Given the description of an element on the screen output the (x, y) to click on. 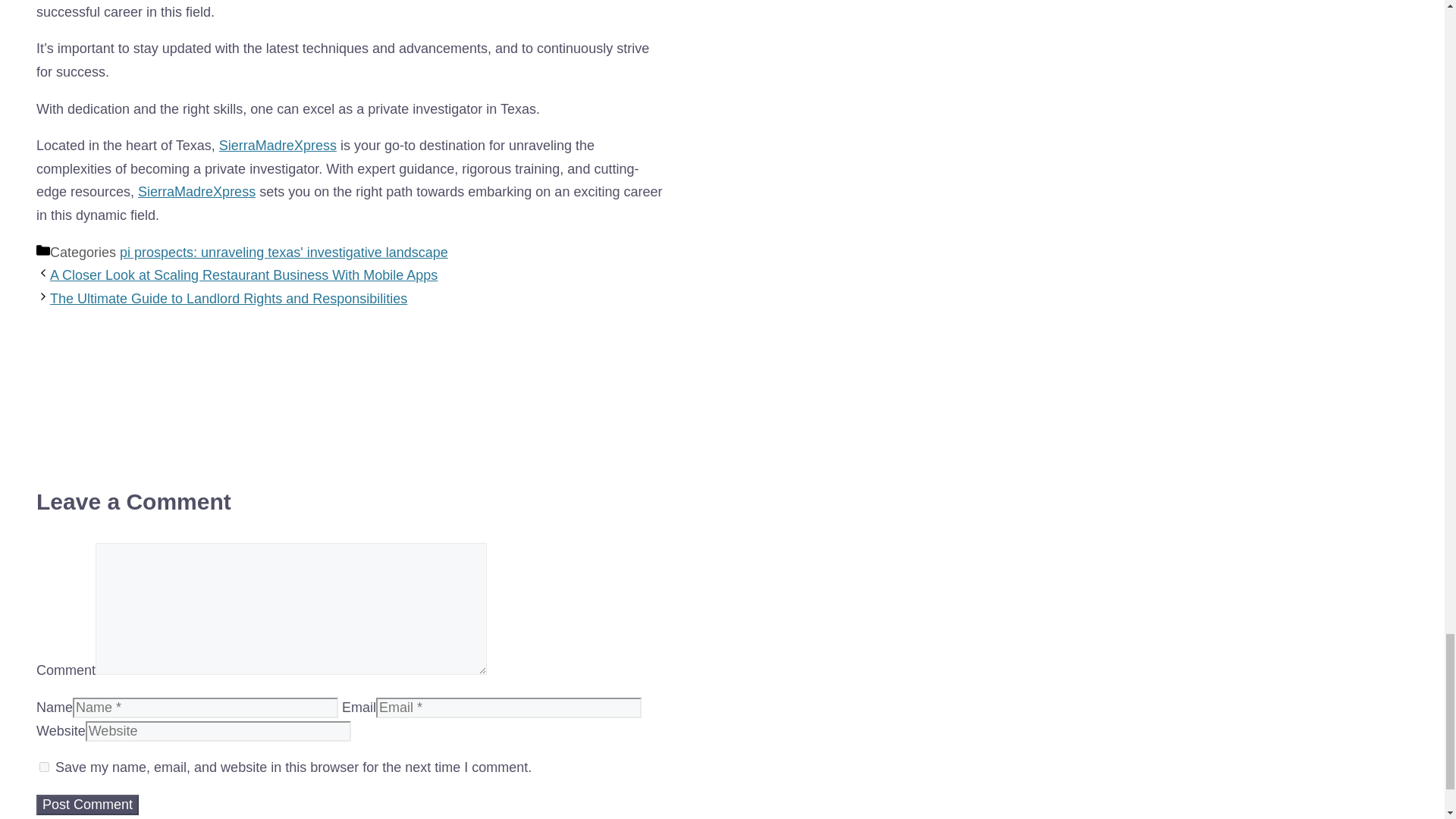
Post Comment (87, 804)
The Ultimate Guide to Landlord Rights and Responsibilities (228, 298)
SierraMadreXpress (277, 145)
Post Comment (87, 804)
yes (44, 767)
pi prospects: unraveling texas' investigative landscape (283, 252)
SierraMadreXpress (197, 191)
